Given the description of an element on the screen output the (x, y) to click on. 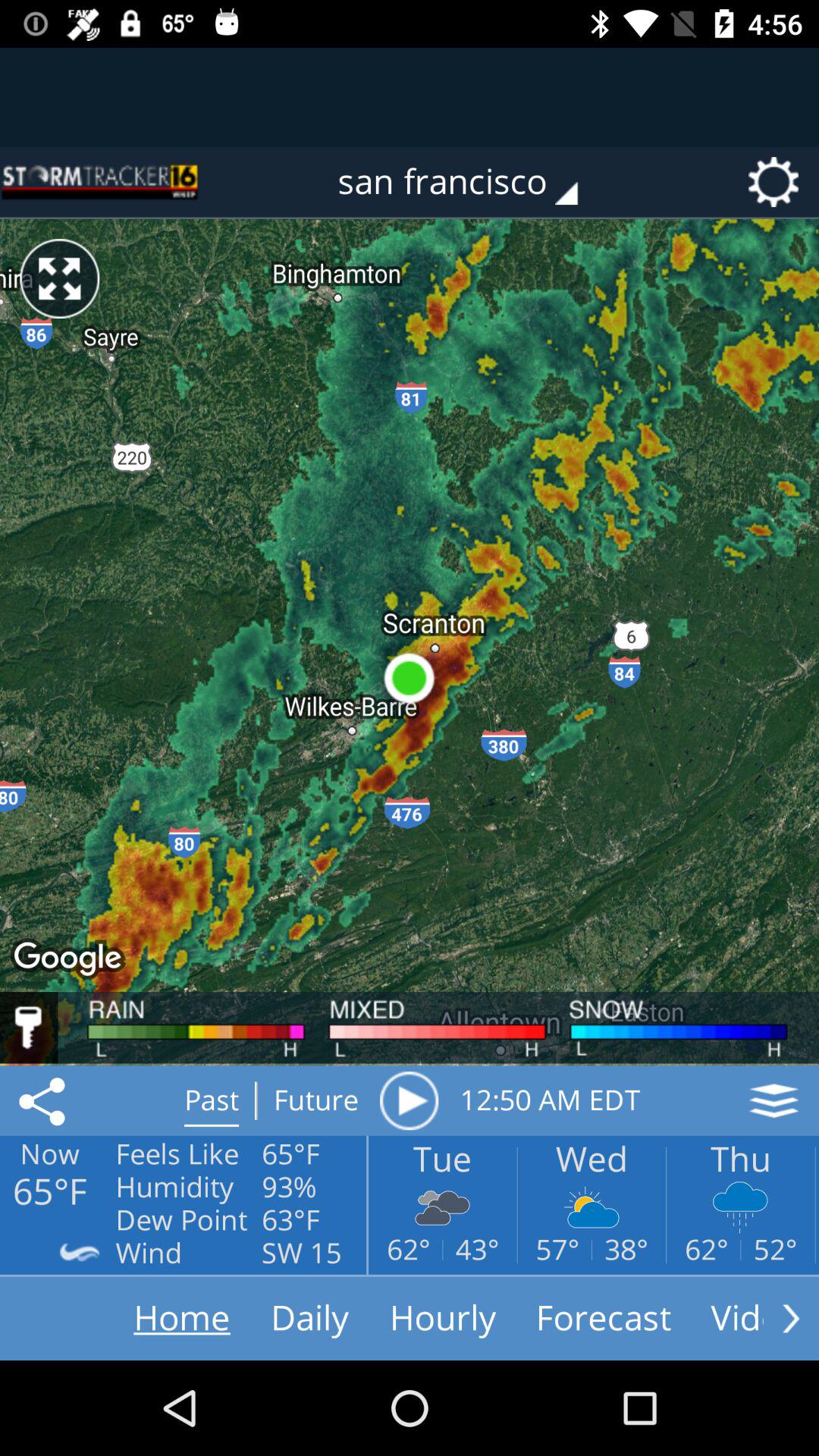
to share the detail (44, 1100)
